Given the description of an element on the screen output the (x, y) to click on. 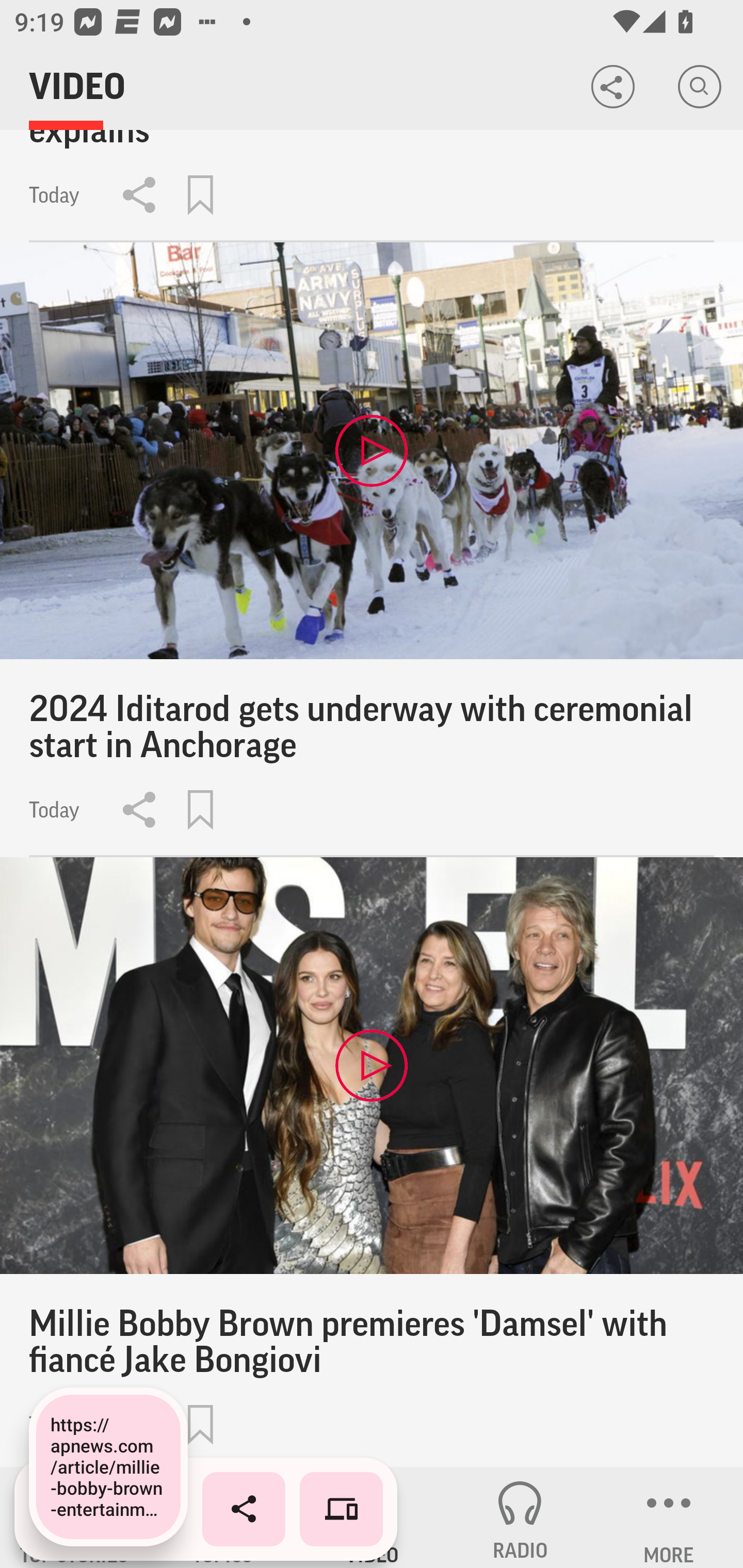
TOPICS (222, 1517)
VIDEO (371, 1517)
RADIO (519, 1517)
MORE (668, 1517)
